Given the description of an element on the screen output the (x, y) to click on. 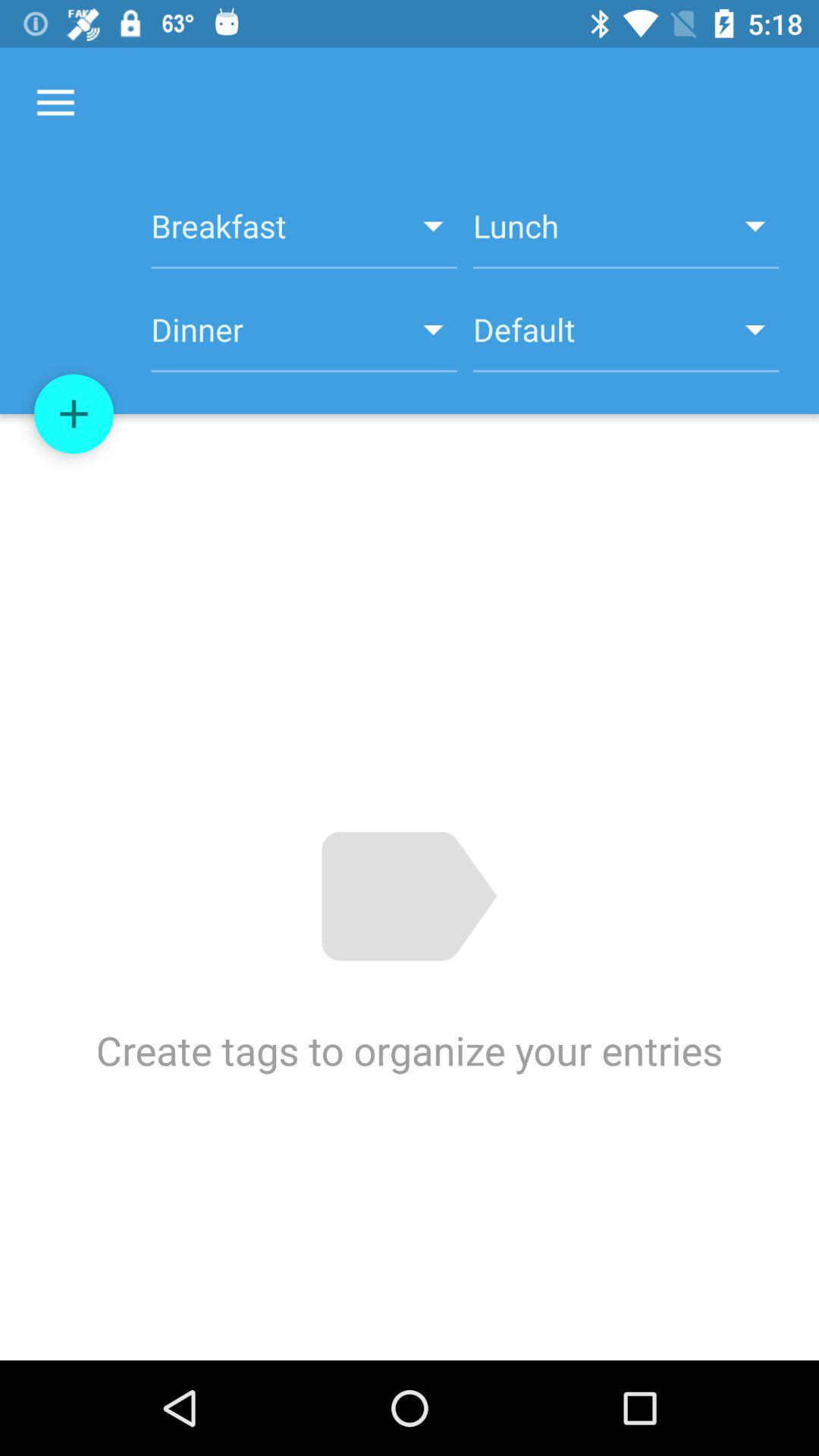
swipe to the default icon (626, 338)
